Given the description of an element on the screen output the (x, y) to click on. 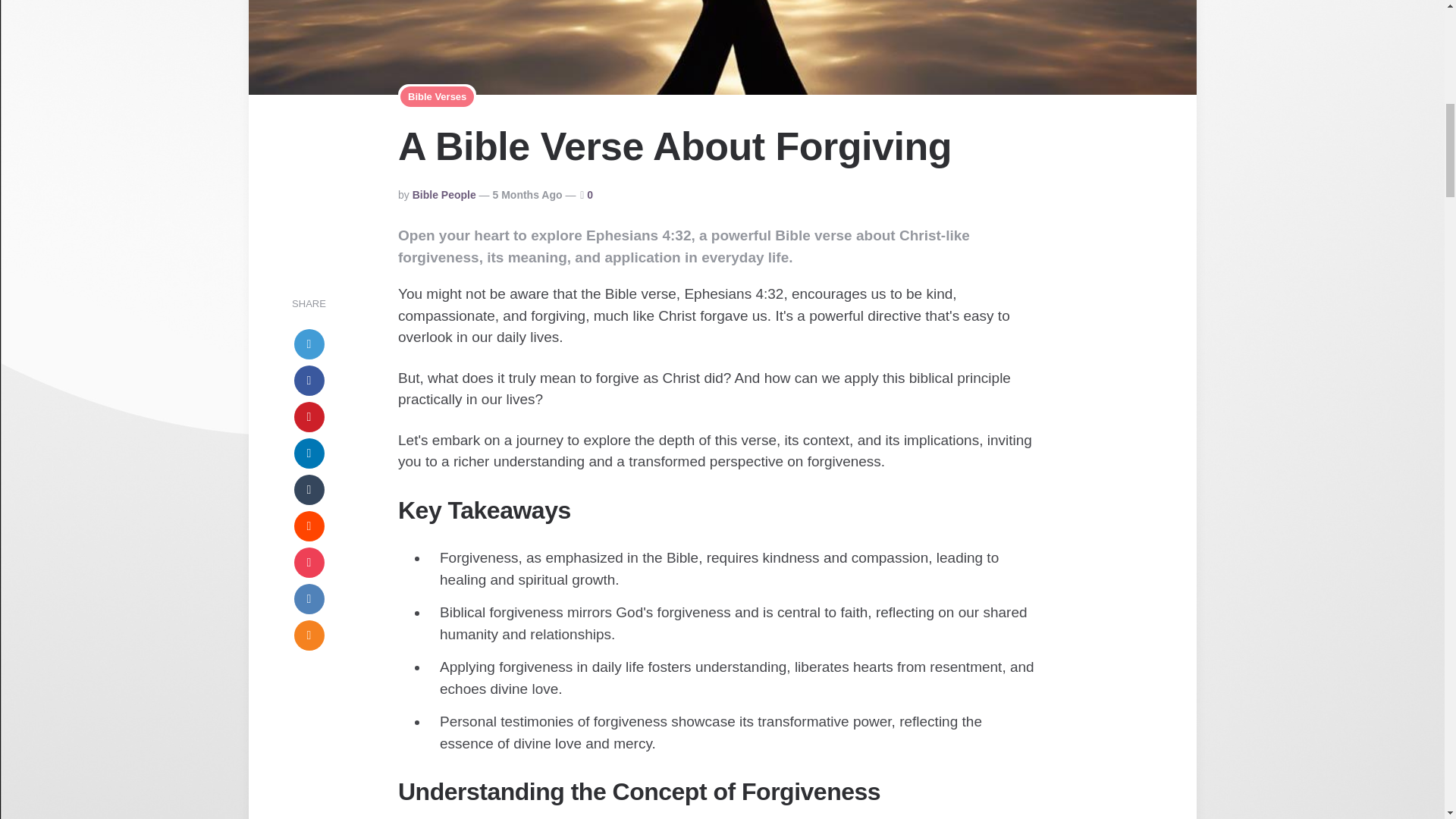
Bible Verses (437, 96)
Bible People (444, 194)
